Given the description of an element on the screen output the (x, y) to click on. 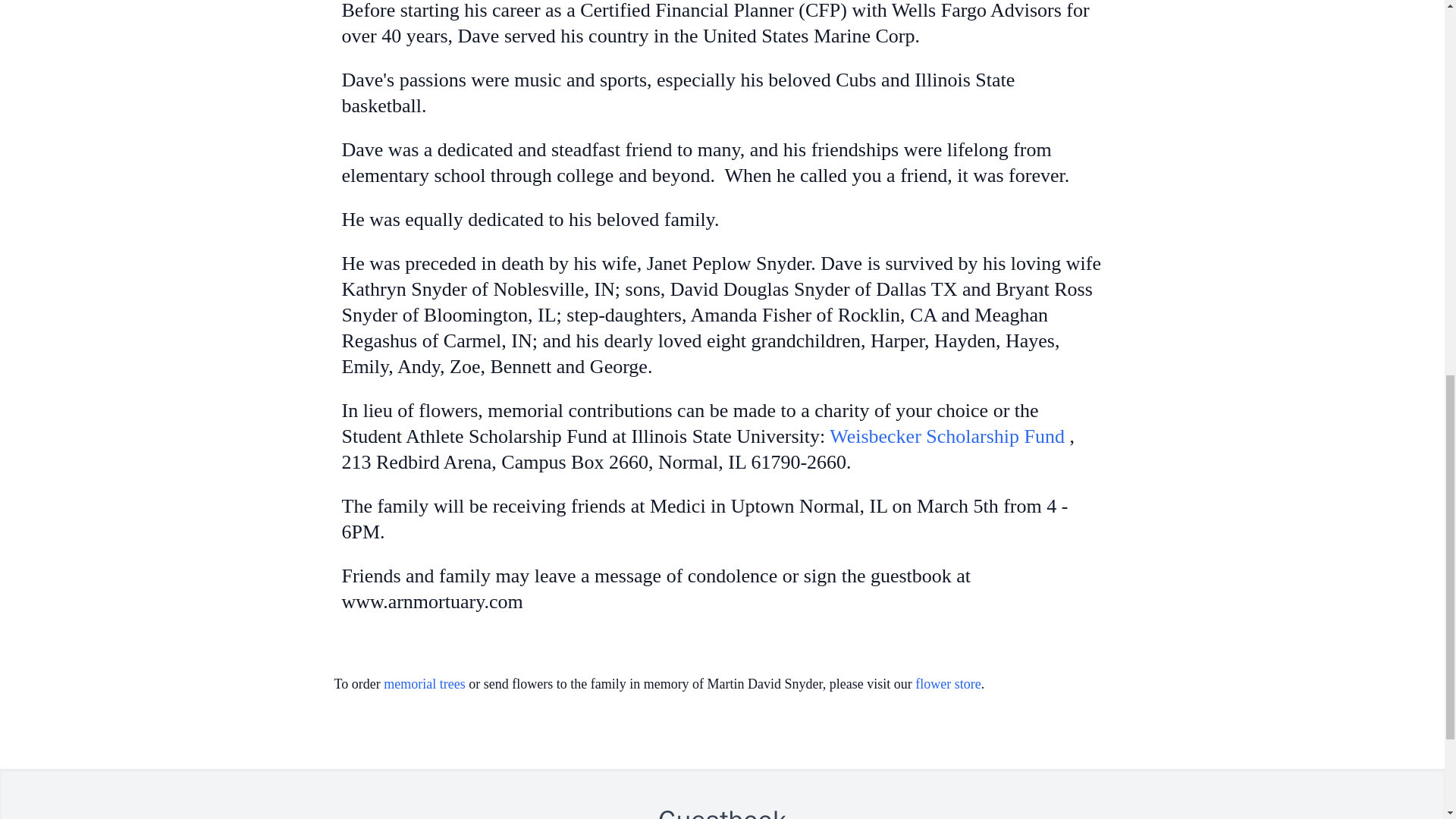
flower store (947, 683)
Weisbecker Scholarship Fund (948, 436)
memorial trees (424, 683)
